Given the description of an element on the screen output the (x, y) to click on. 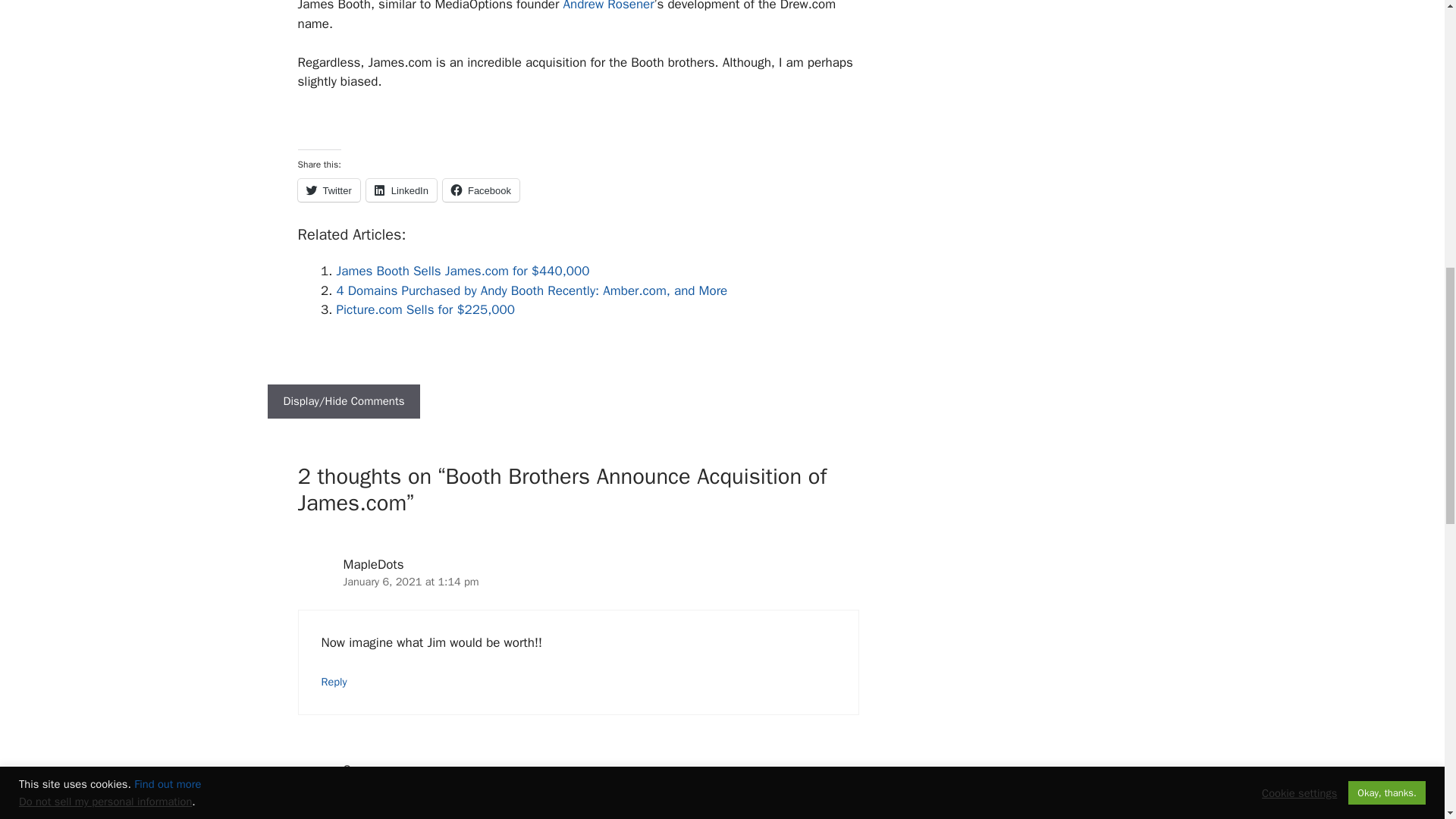
Facebook (480, 190)
LinkedIn (401, 190)
Andrew Rosener (608, 6)
January 7, 2021 at 7:44 am (410, 786)
Twitter (328, 190)
January 6, 2021 at 1:14 pm (410, 581)
Reply (334, 681)
Click to share on Facebook (480, 190)
Click to share on Twitter (328, 190)
Click to share on LinkedIn (401, 190)
